Given the description of an element on the screen output the (x, y) to click on. 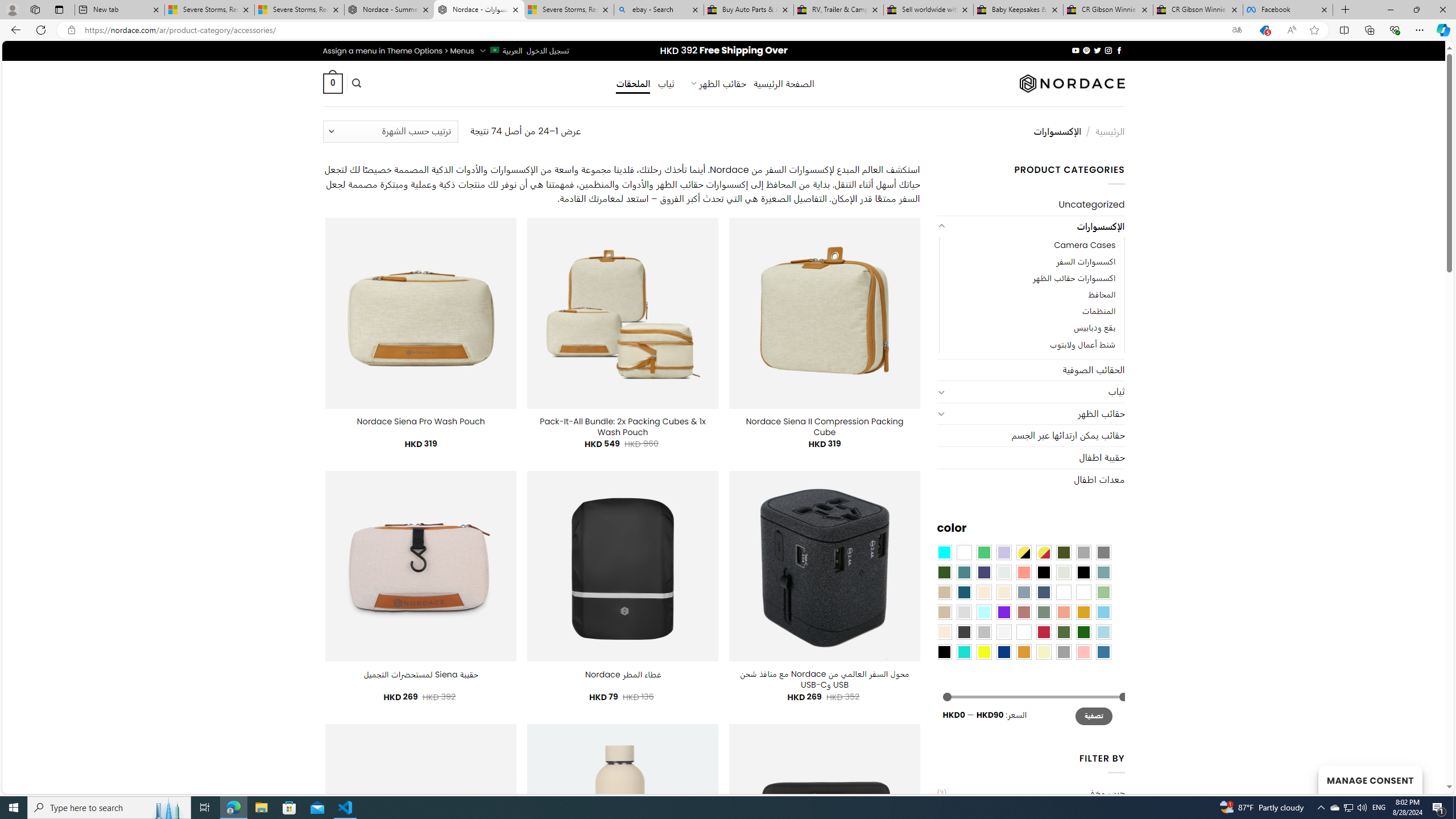
Kelp (1063, 591)
MANAGE CONSENT (1369, 779)
Nordace (1072, 83)
RV, Trailer & Camper Steps & Ladders for sale | eBay (838, 9)
Yellow-Black (1023, 551)
Address and search bar (653, 29)
Camera Cases (1084, 245)
